Given the description of an element on the screen output the (x, y) to click on. 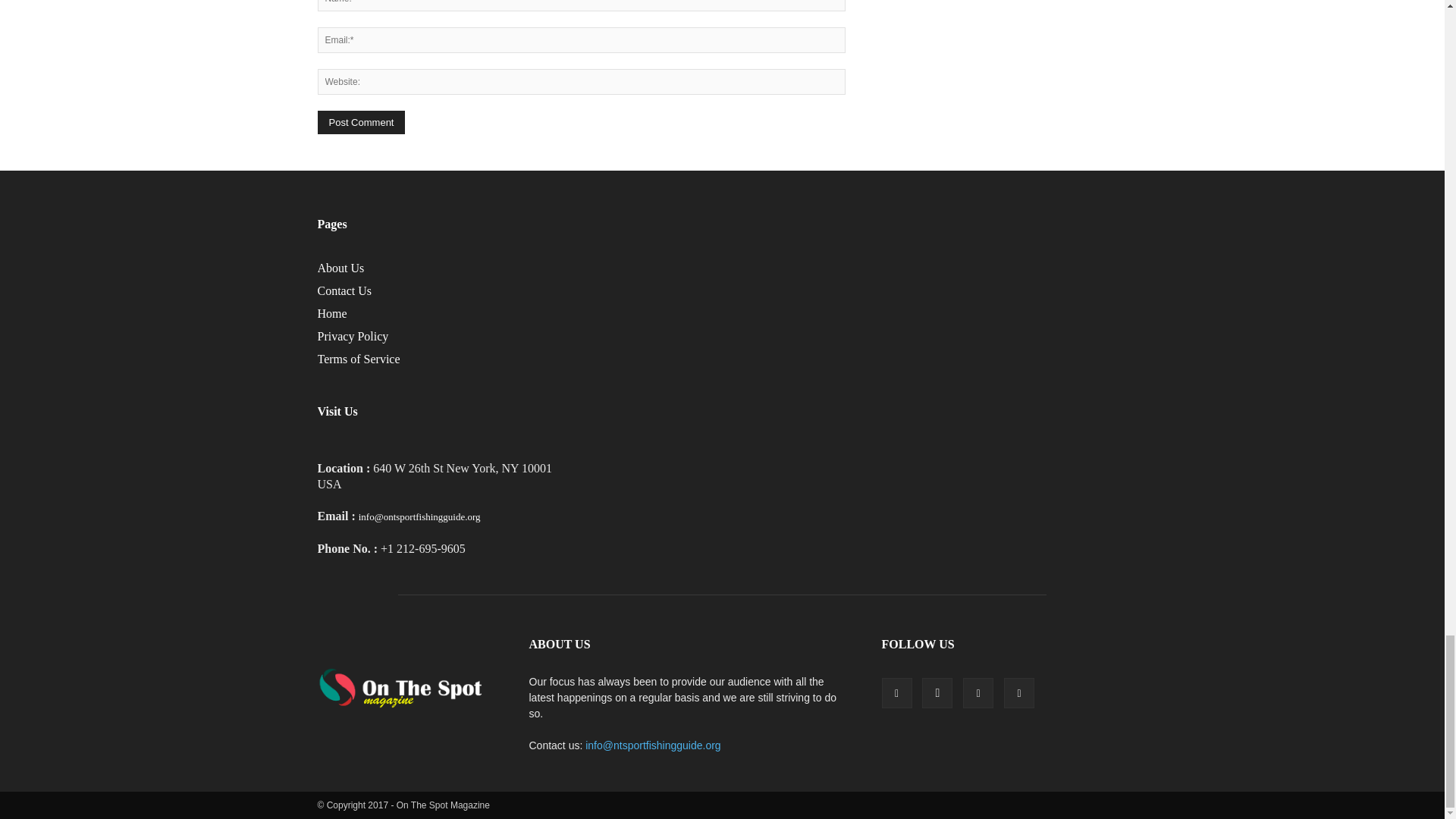
Post Comment (360, 122)
